Given the description of an element on the screen output the (x, y) to click on. 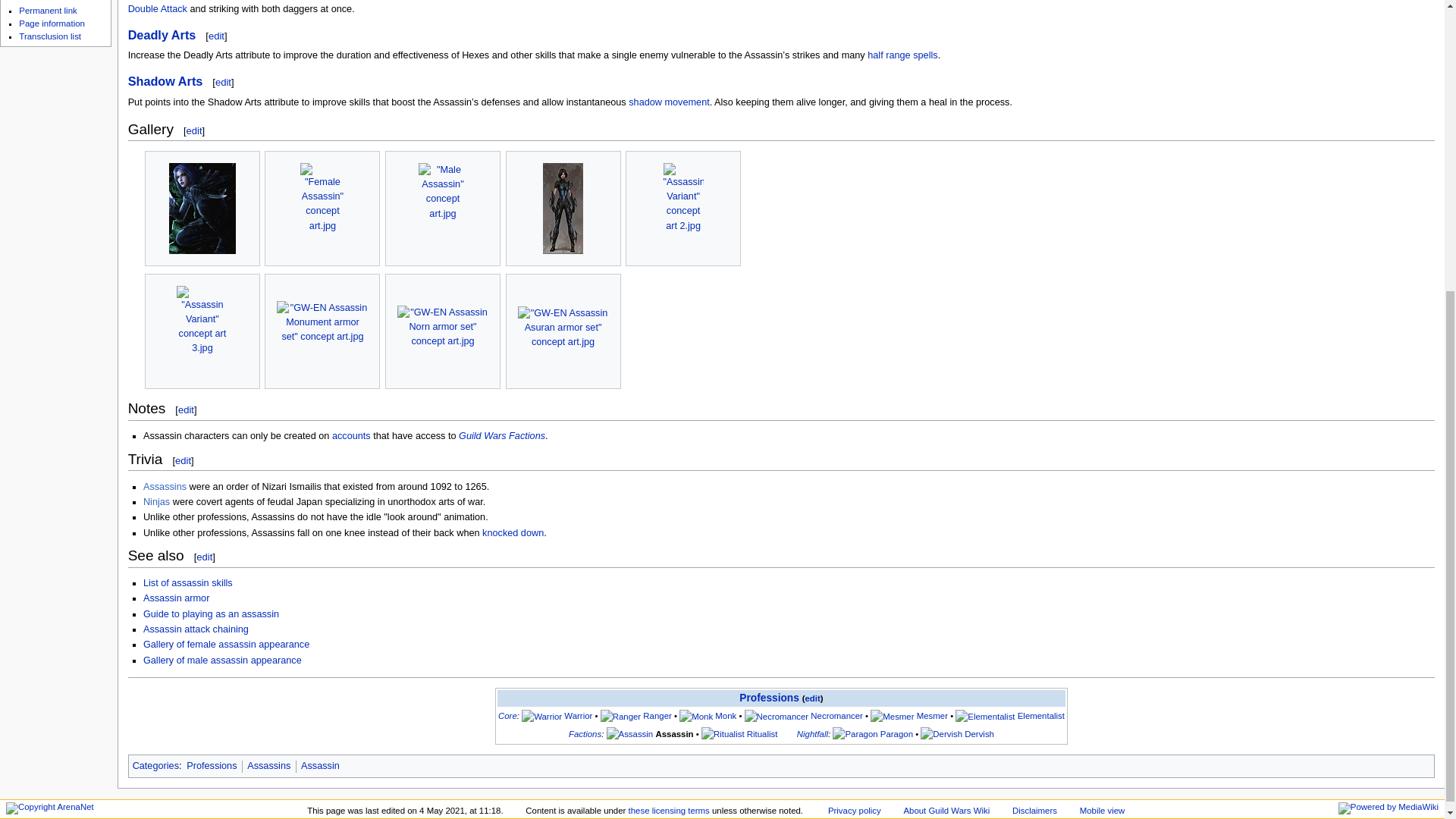
edit (216, 35)
Deadly Arts (162, 34)
edit (223, 81)
Shadow Arts (165, 80)
shadow movement (669, 102)
half range spells (902, 54)
Double Attack (157, 9)
edit (194, 130)
